Given the description of an element on the screen output the (x, y) to click on. 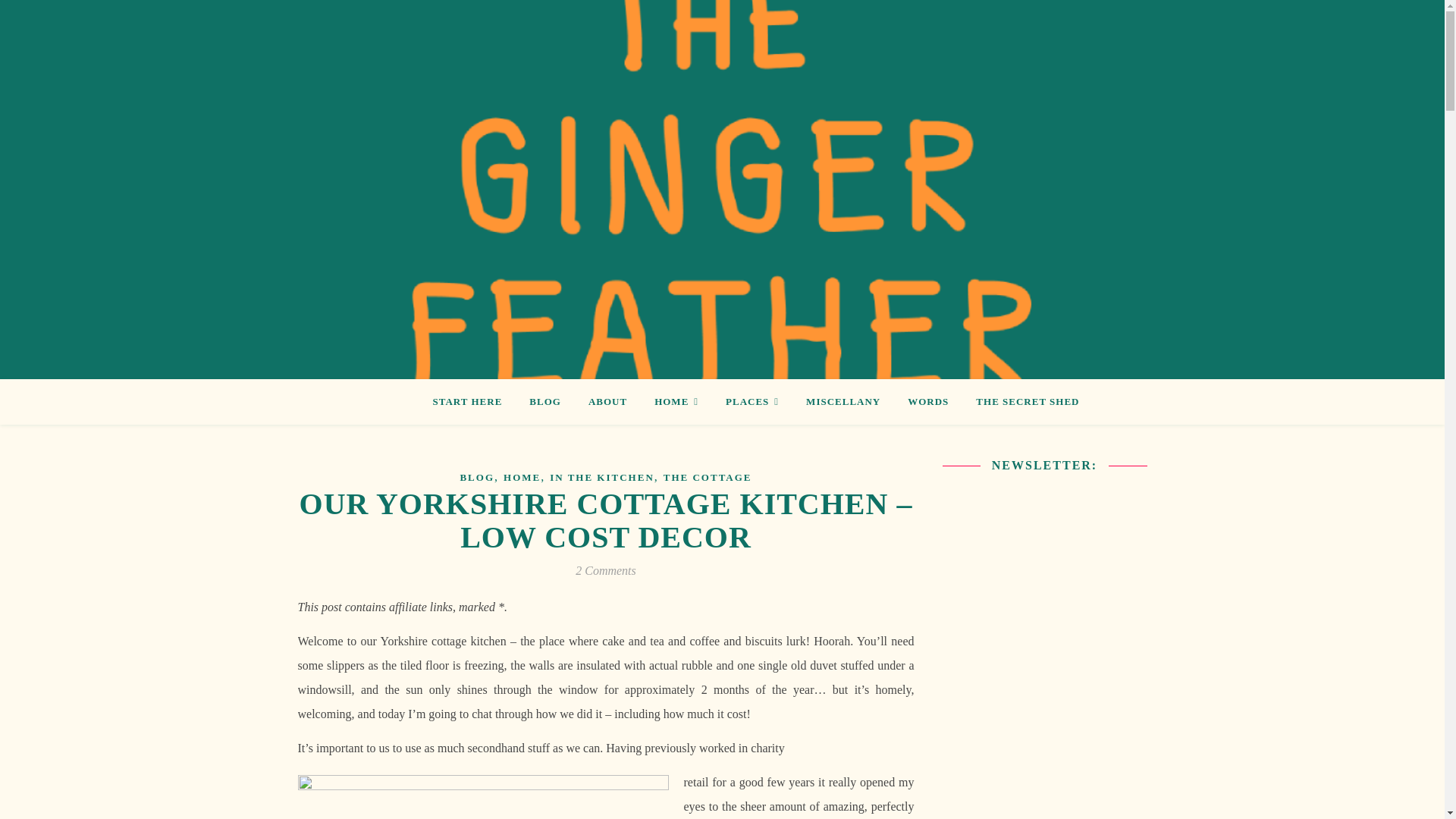
WORDS (927, 402)
MISCELLANY (842, 402)
BLOG (544, 402)
ABOUT (607, 402)
START HERE (473, 402)
PLACES (751, 402)
THE SECRET SHED (1020, 402)
HOME (676, 402)
